Given the description of an element on the screen output the (x, y) to click on. 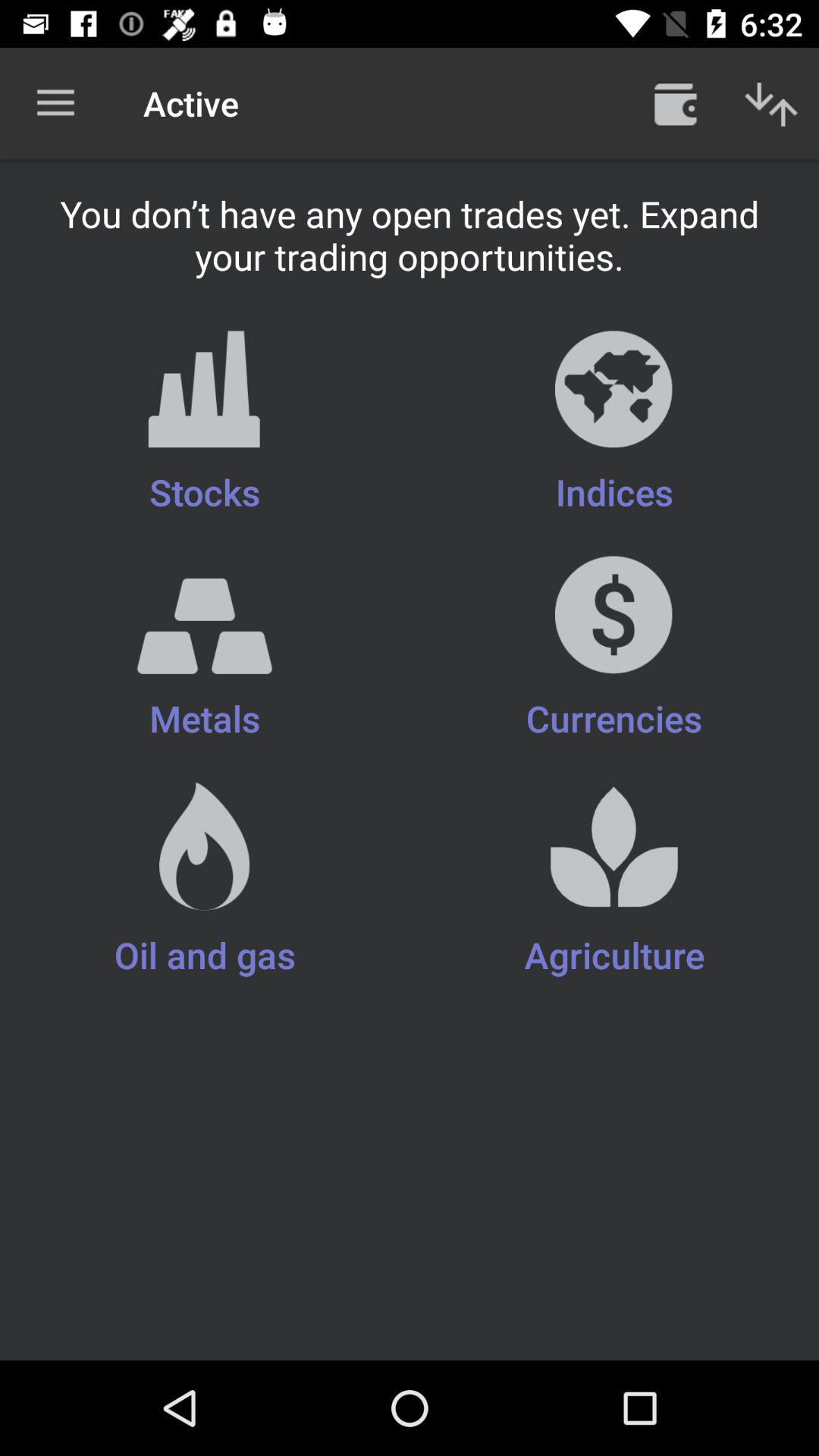
swipe until indices icon (614, 423)
